Given the description of an element on the screen output the (x, y) to click on. 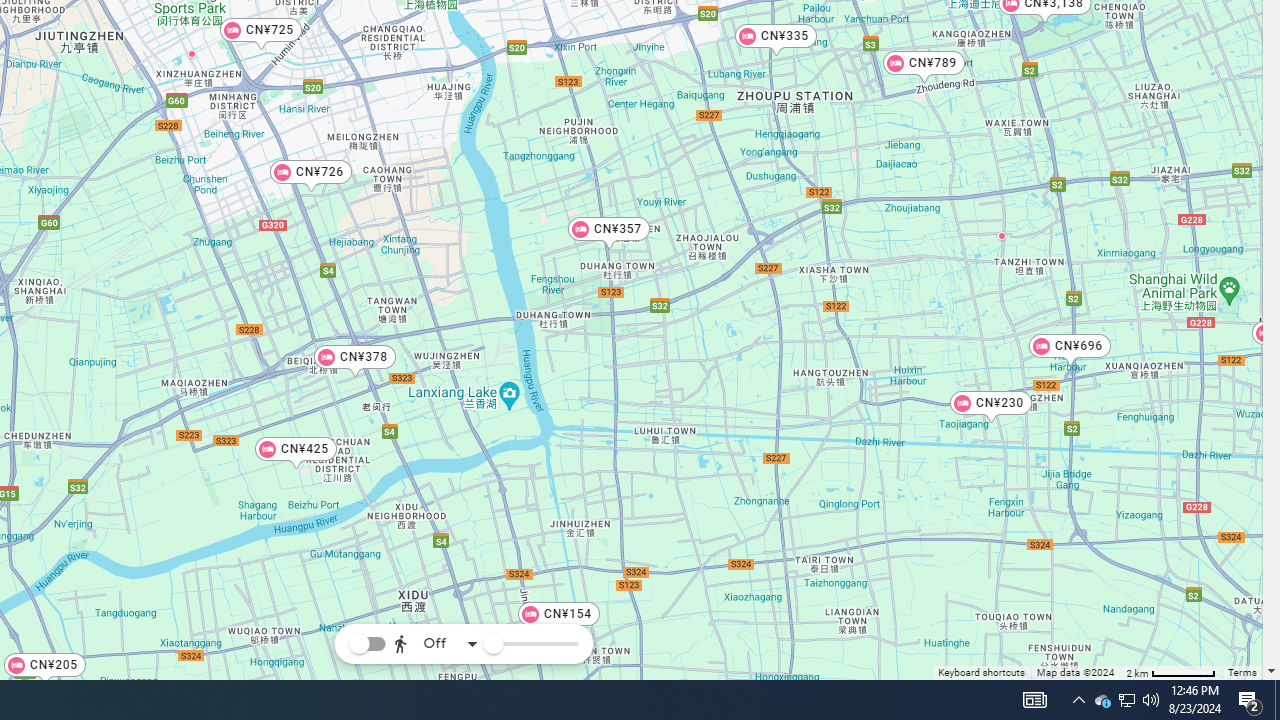
Walk (431, 544)
Off (435, 643)
Hanting Premium Hotel Shanghai Xinzhuang Business (190, 53)
Keyboard shortcuts (981, 673)
Toggle reachability layer (367, 643)
Venus International Hotel Shanghai South Shenjiang Road (1001, 235)
Reachability slider (492, 644)
